Given the description of an element on the screen output the (x, y) to click on. 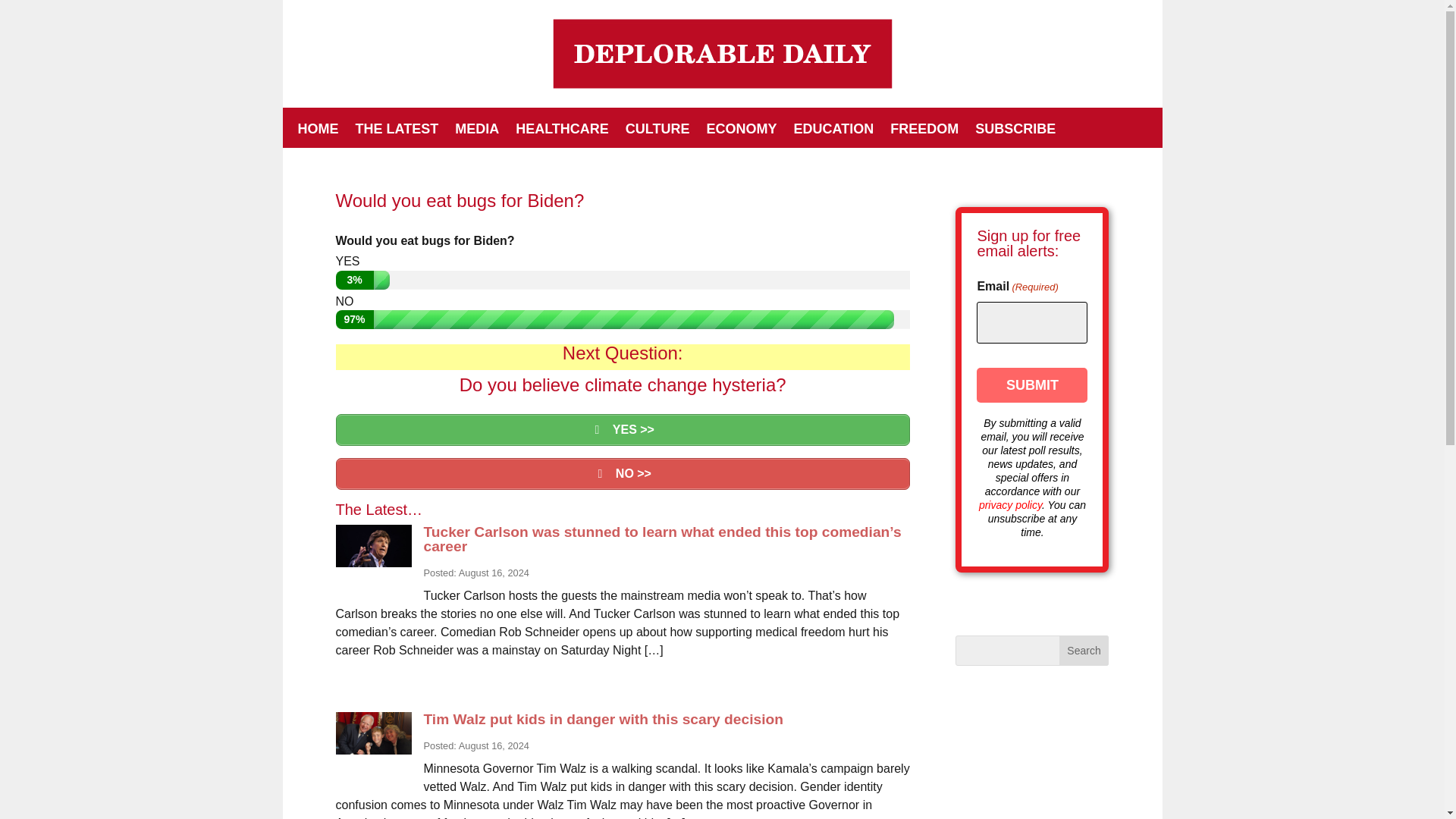
HEALTHCARE (561, 131)
EDUCATION (834, 131)
SUBSCRIBE (1015, 131)
Submit (1031, 384)
HOME (317, 131)
ECONOMY (741, 131)
FREEDOM (923, 131)
THE LATEST (396, 131)
Tim Walz put kids in danger with this scary decision (603, 719)
Search (1084, 650)
